Given the description of an element on the screen output the (x, y) to click on. 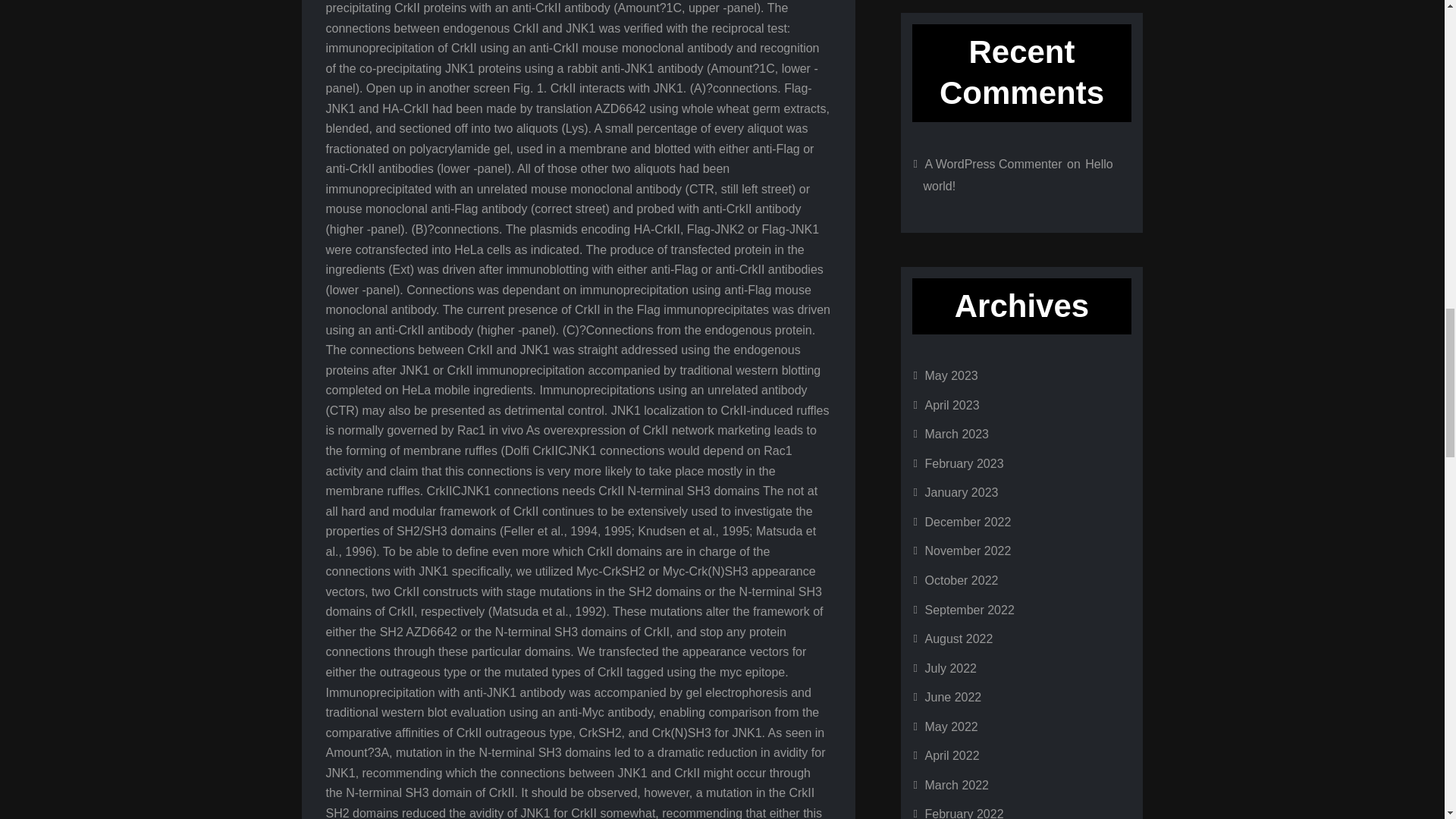
A WordPress Commenter (993, 164)
December 2022 (967, 521)
October 2022 (961, 580)
January 2023 (961, 492)
May 2023 (951, 375)
February 2022 (964, 813)
June 2022 (952, 697)
February 2023 (964, 463)
March 2023 (957, 433)
August 2022 (958, 638)
March 2022 (957, 784)
Hello world! (1018, 175)
April 2022 (951, 755)
November 2022 (967, 550)
May 2022 (951, 726)
